Given the description of an element on the screen output the (x, y) to click on. 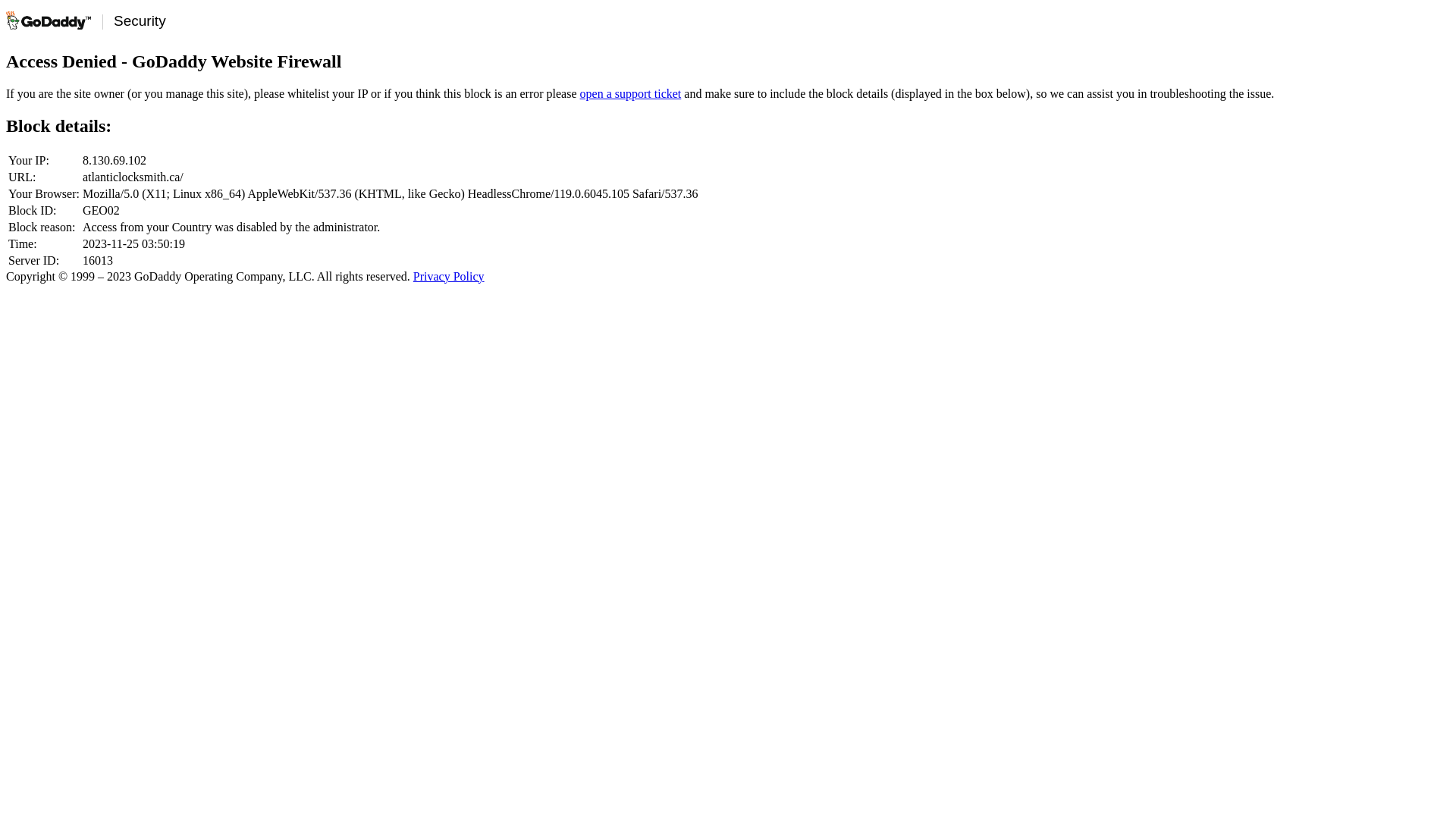
Privacy Policy Element type: text (448, 275)
open a support ticket Element type: text (630, 93)
